Given the description of an element on the screen output the (x, y) to click on. 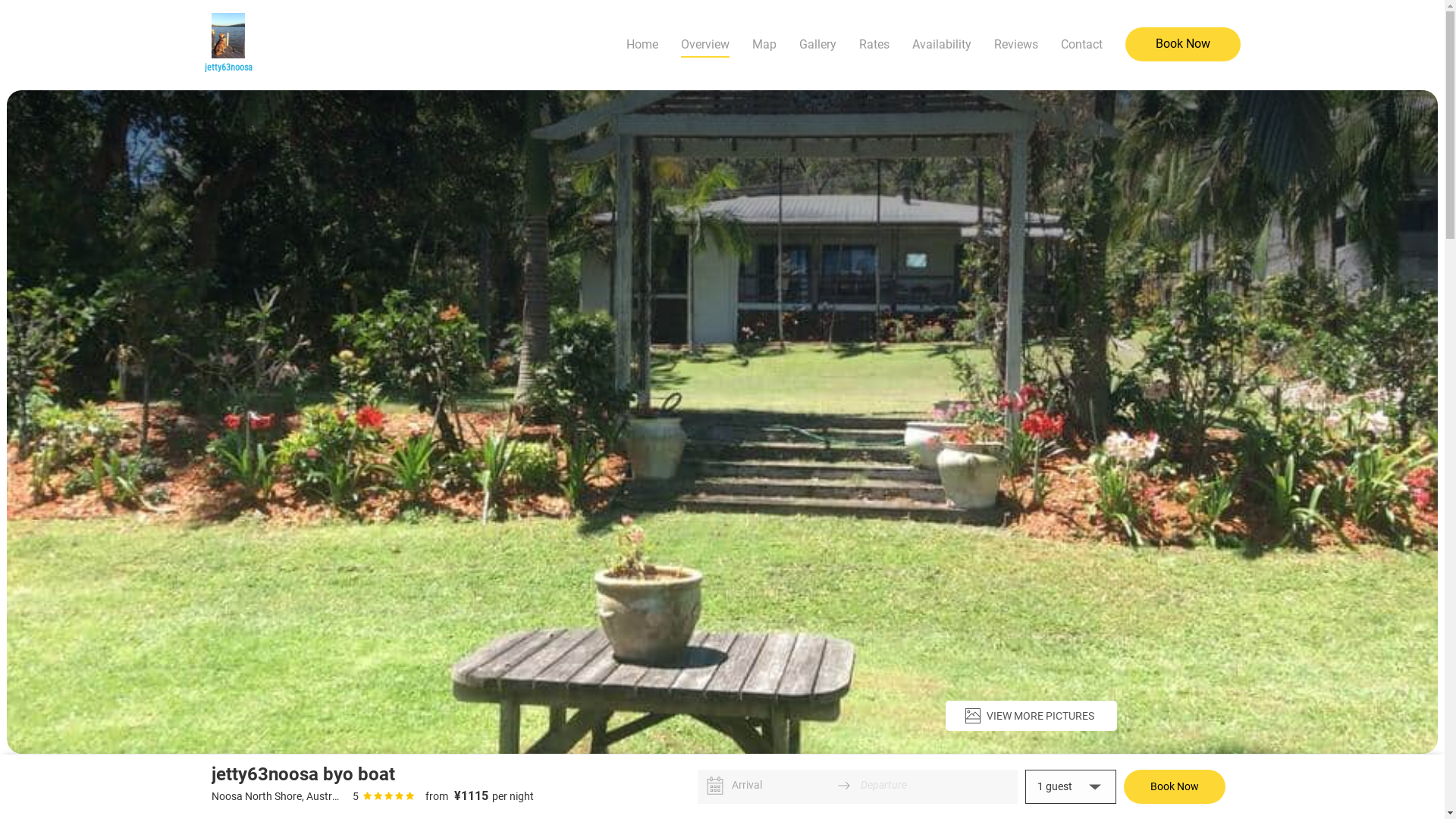
Description Element type: text (365, 776)
Gallery Element type: text (817, 44)
jetty63noosa Element type: text (228, 44)
Pictures Element type: text (436, 776)
Availability Element type: text (940, 44)
Map Element type: text (764, 44)
Book Now Element type: text (1182, 44)
Book Now Element type: text (1174, 786)
Contact Element type: text (1080, 44)
Amenities Element type: text (503, 776)
Overview Element type: text (704, 44)
VIEW MORE PICTURES Element type: text (1030, 715)
Rates Element type: text (873, 44)
Reviews Element type: text (1015, 44)
Home Element type: text (642, 44)
Image Title Element type: hover (722, 421)
Image Title Element type: hover (228, 34)
